Given the description of an element on the screen output the (x, y) to click on. 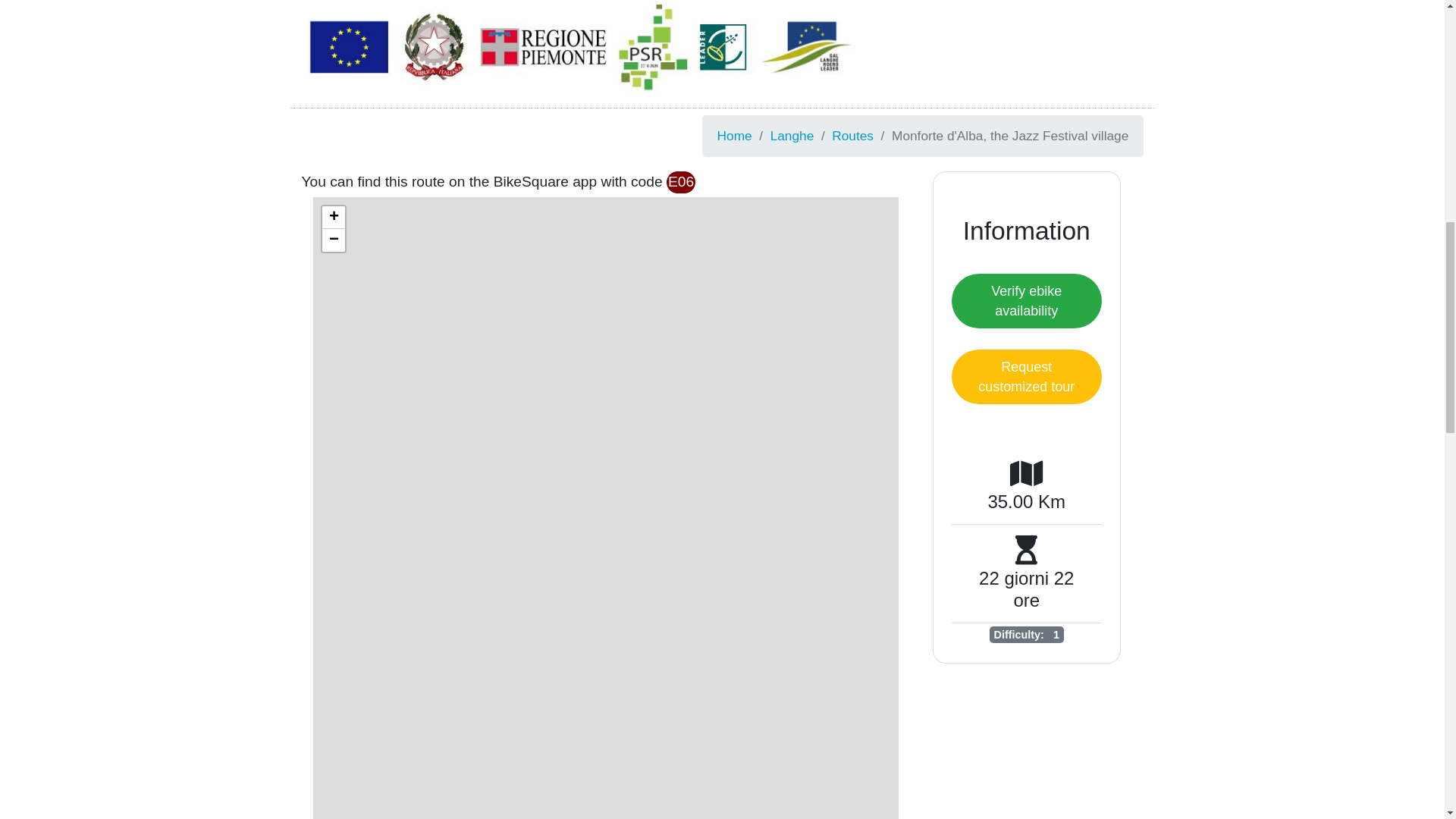
Routes (852, 136)
Home (734, 136)
Langhe (791, 136)
Zoom in (332, 217)
Zoom out (332, 240)
